Given the description of an element on the screen output the (x, y) to click on. 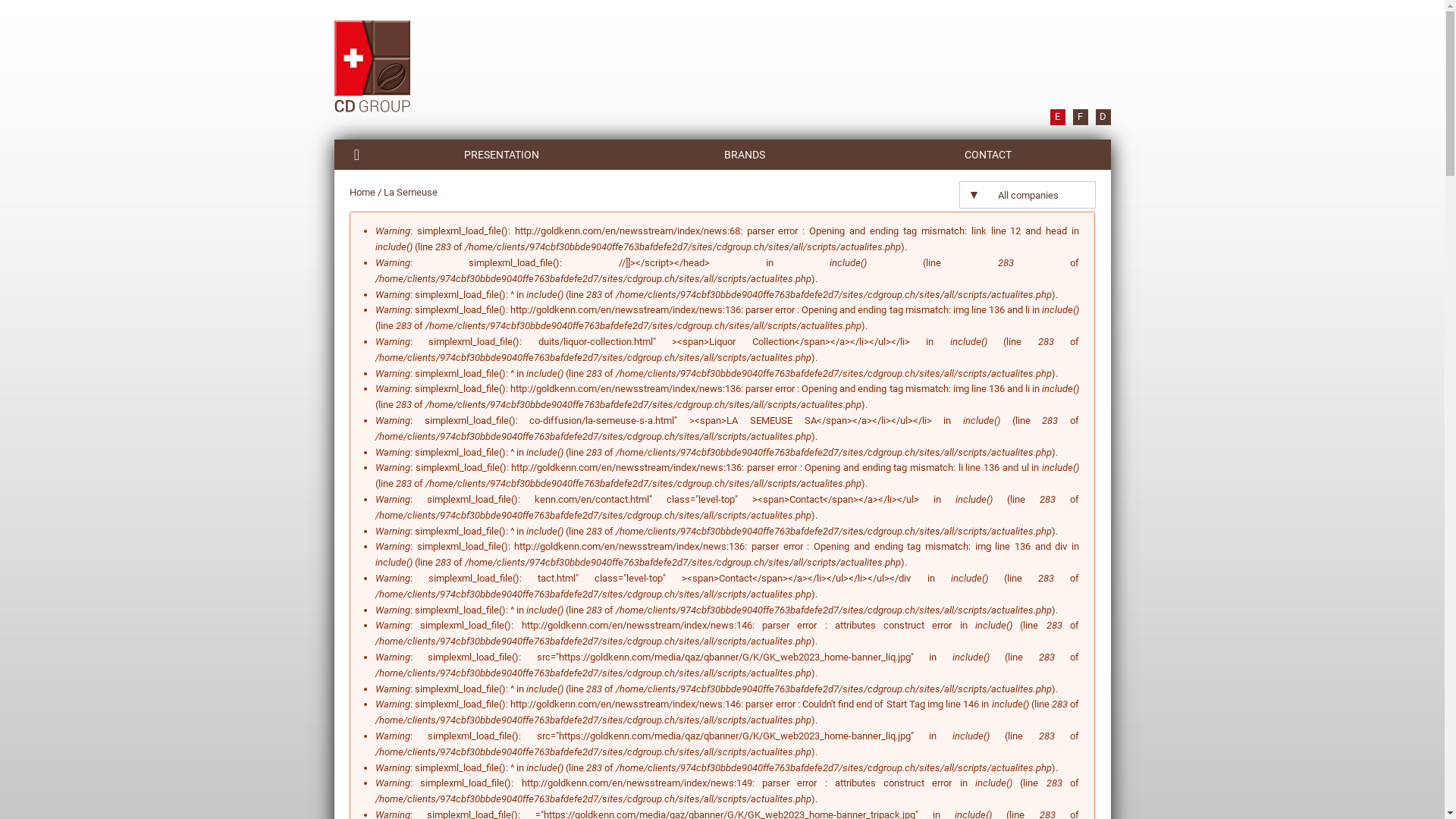
CONTACT Element type: text (987, 154)
E Element type: text (1056, 117)
BRANDS Element type: text (744, 154)
All companies Element type: text (1026, 194)
F Element type: text (1079, 117)
D Element type: text (1102, 117)
Home Element type: text (362, 191)
PRESENTATION Element type: text (500, 154)
Home Element type: hover (371, 67)
